Given the description of an element on the screen output the (x, y) to click on. 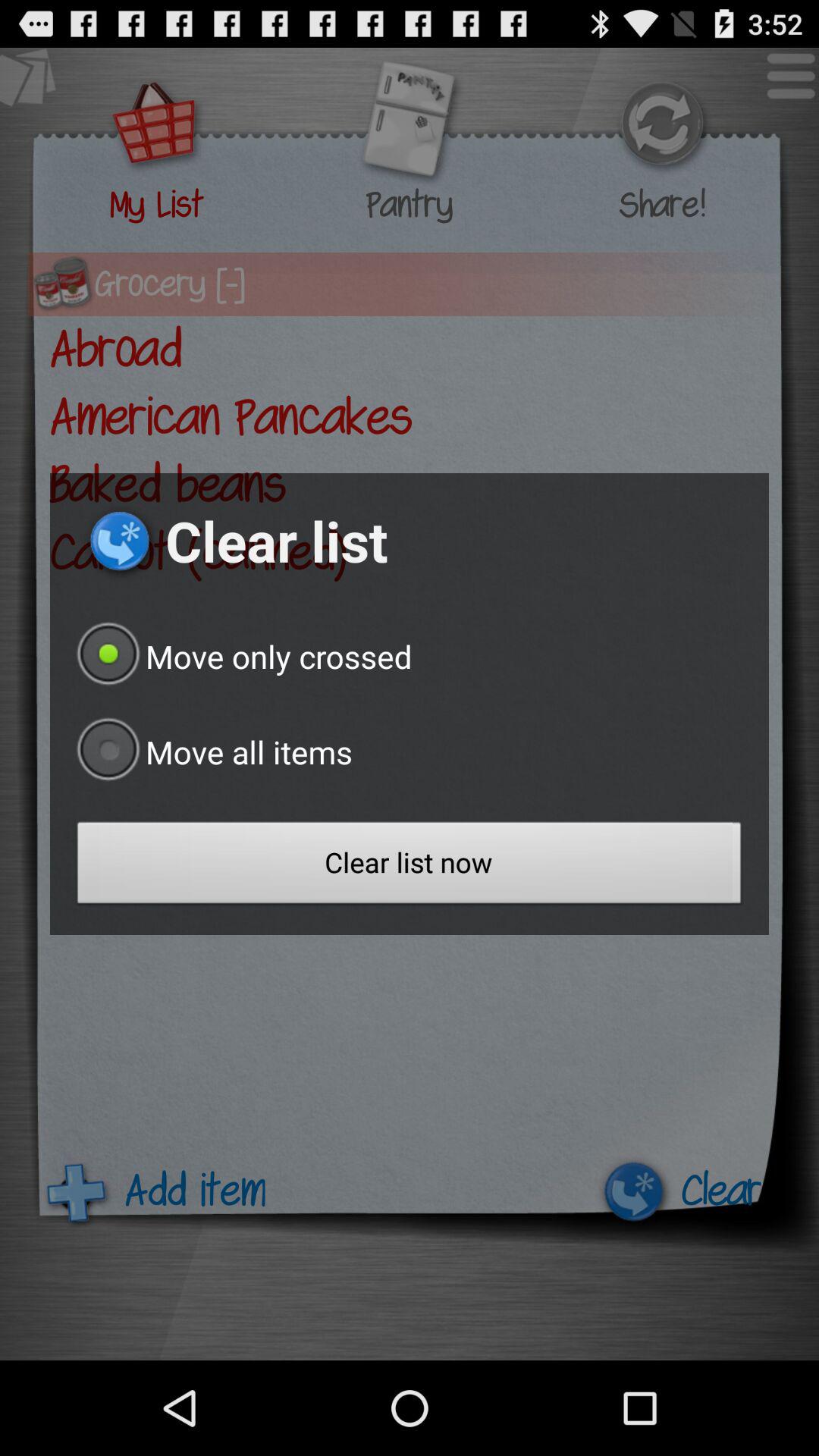
launch icon below the clear list (240, 656)
